Given the description of an element on the screen output the (x, y) to click on. 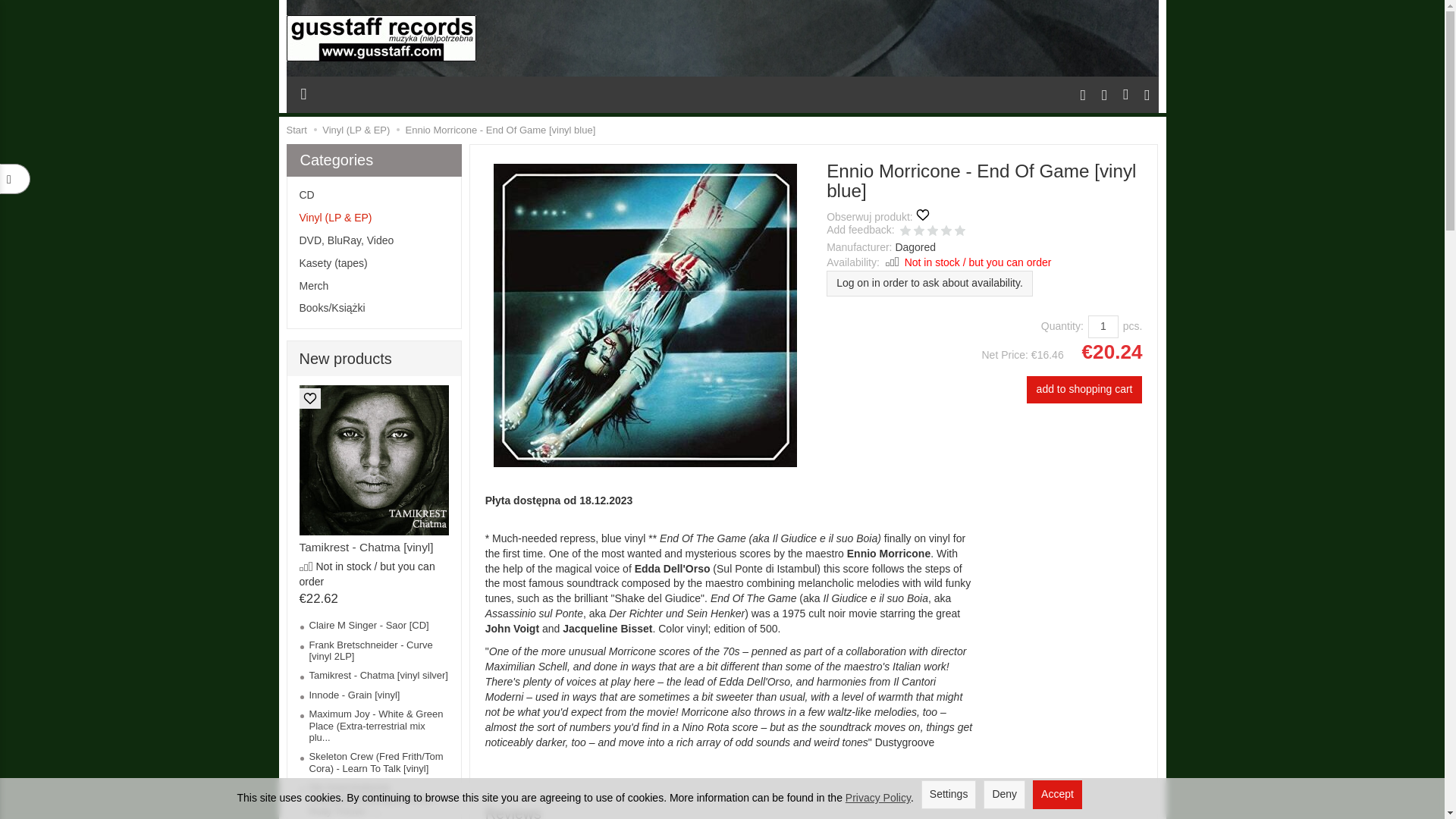
5 (959, 232)
3 (932, 232)
2 (919, 232)
1 (1102, 326)
4 (946, 232)
Start (296, 129)
1 (905, 232)
